Given the description of an element on the screen output the (x, y) to click on. 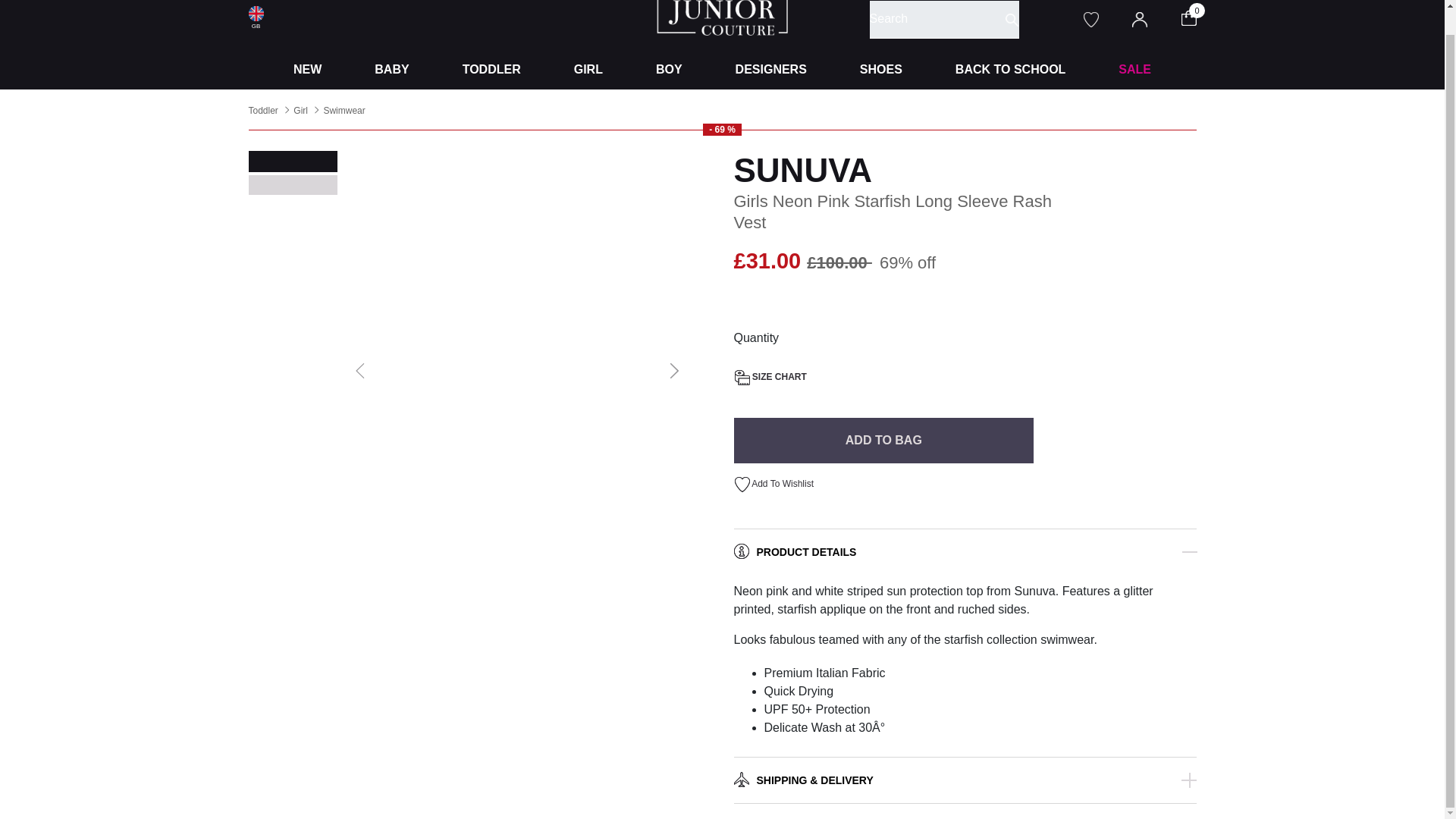
Juniour Couture Home (721, 11)
Cart 0 Items (1197, 16)
BABY (391, 69)
0 (1197, 16)
